Given the description of an element on the screen output the (x, y) to click on. 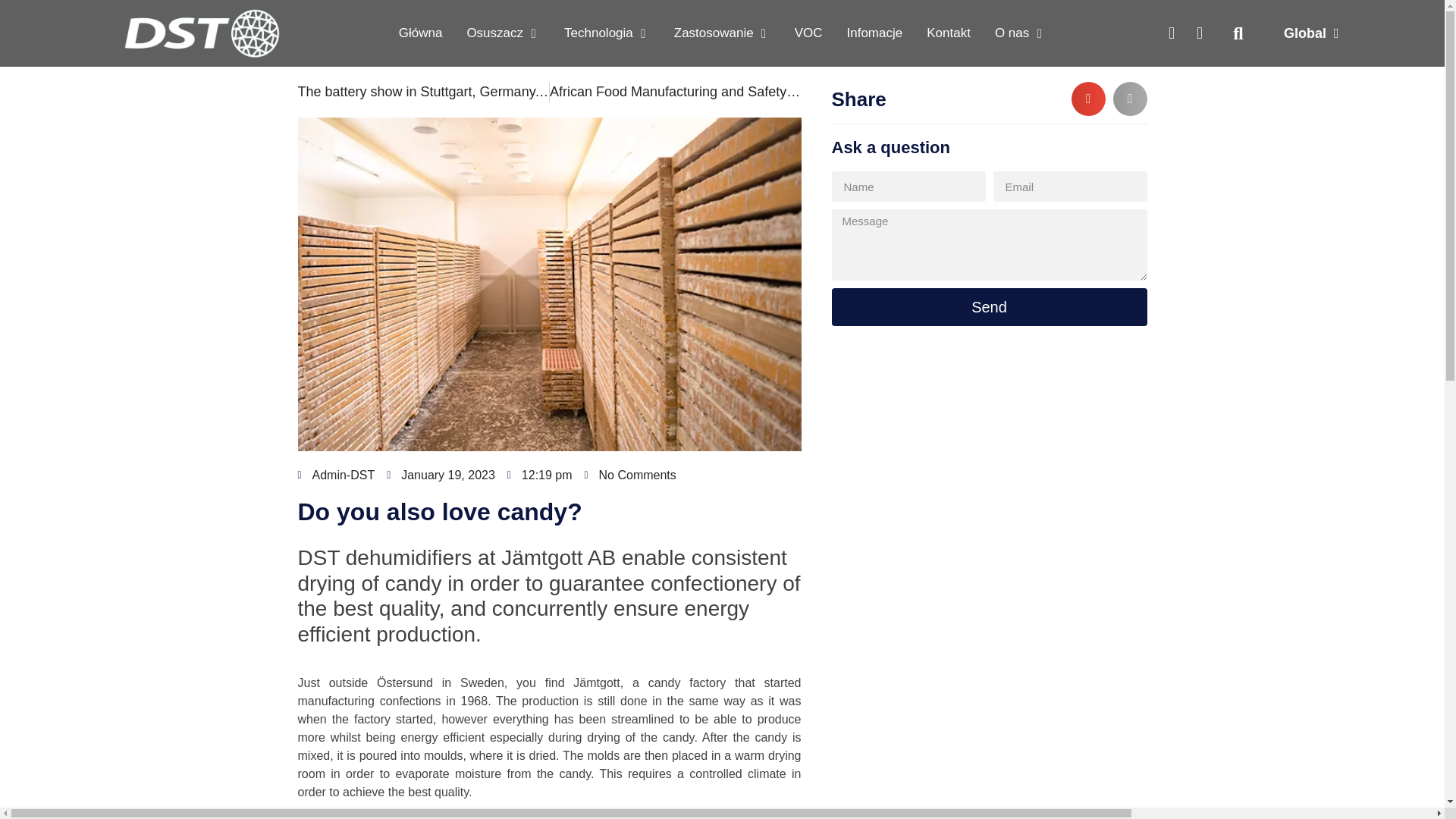
Osuszacz (493, 33)
Global (1311, 32)
